Given the description of an element on the screen output the (x, y) to click on. 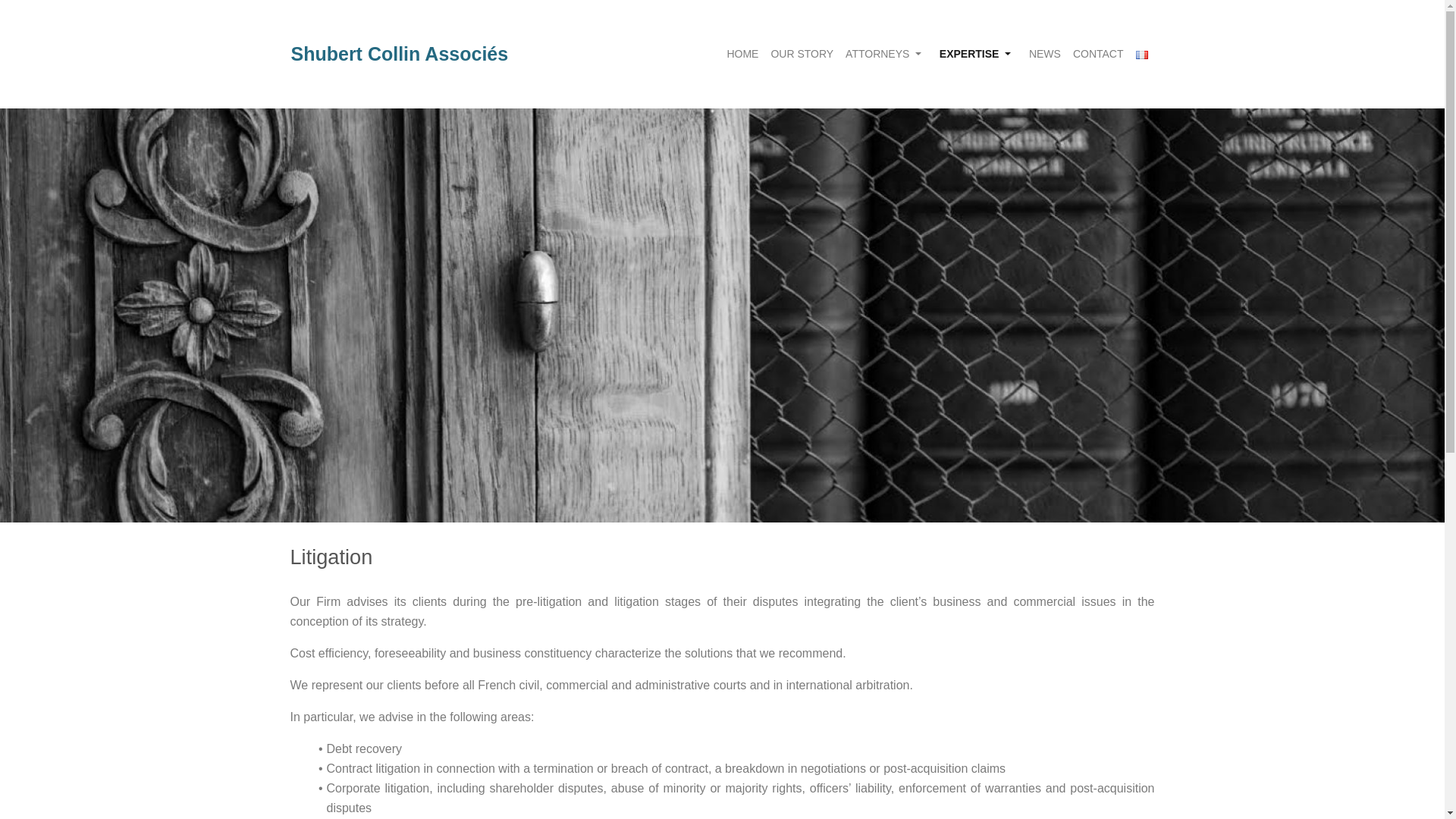
CONTACT (1098, 53)
OUR STORY (802, 53)
ATTORNEYS (883, 53)
HOME (742, 53)
EXPERTISE (974, 53)
NEWS (1045, 53)
